Given the description of an element on the screen output the (x, y) to click on. 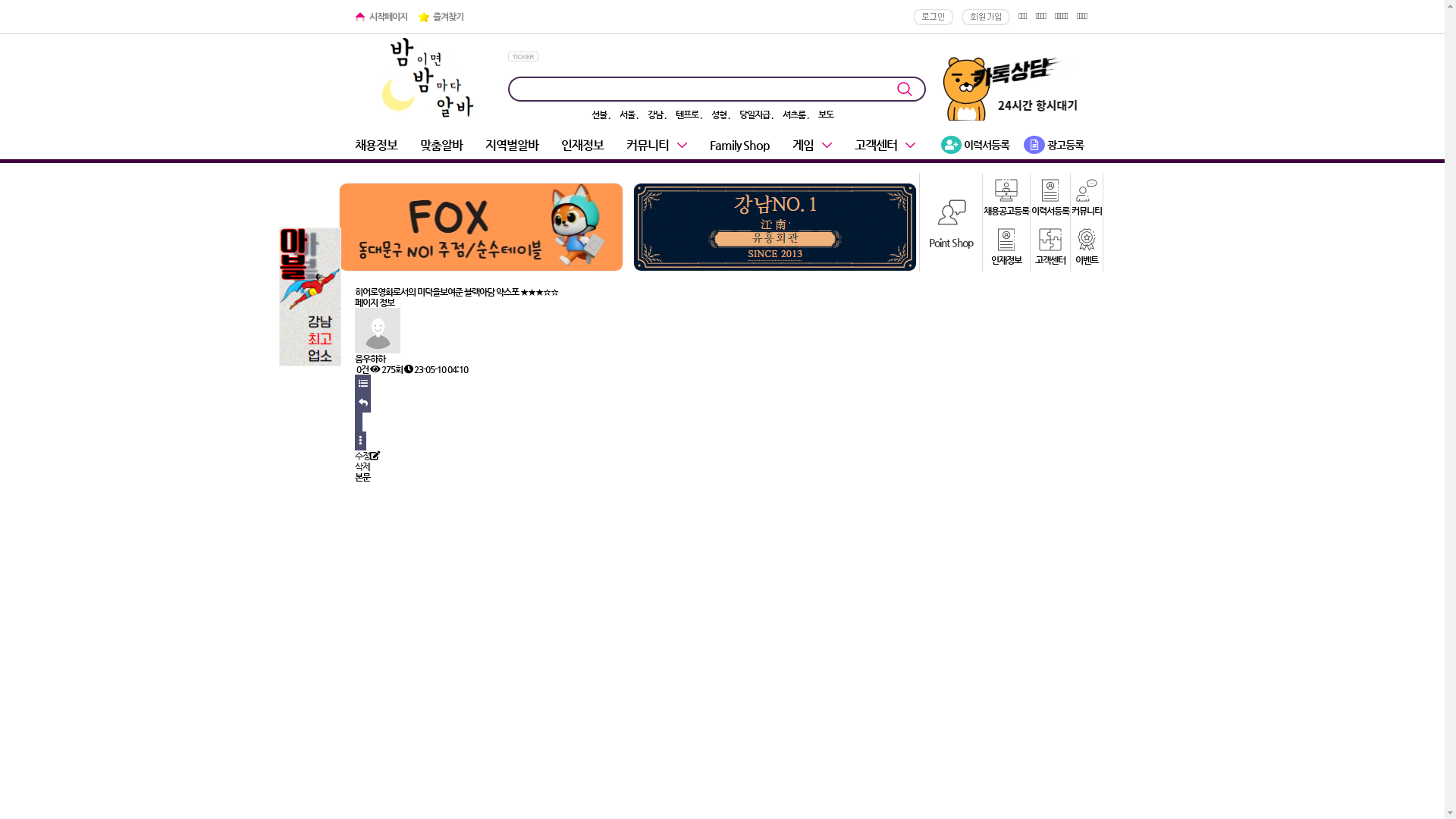
Point Shop Element type: text (950, 221)
Family Shop Element type: text (739, 145)
